Given the description of an element on the screen output the (x, y) to click on. 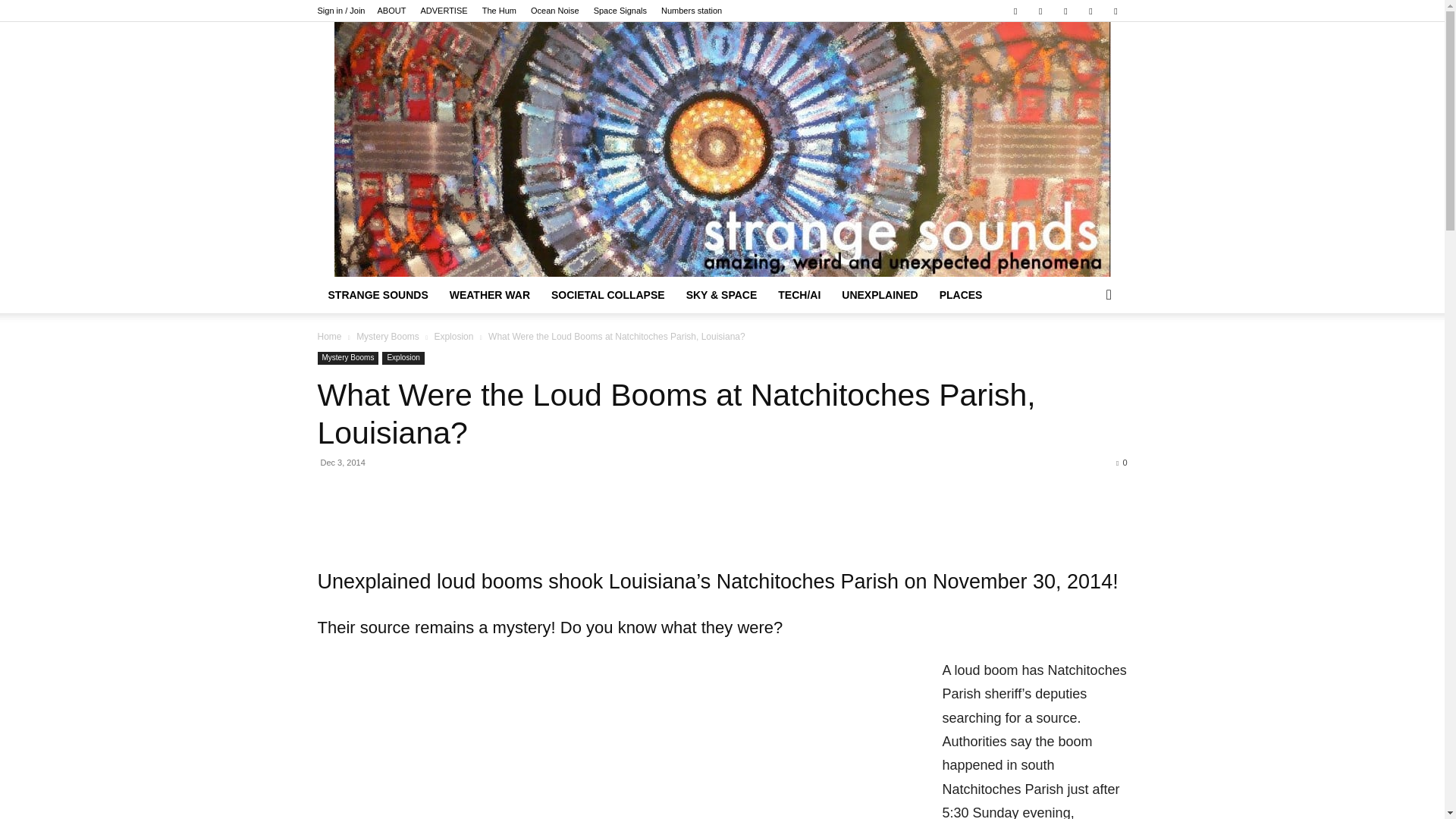
Space Signals (620, 10)
ABOUT (391, 10)
The Hum (498, 10)
Ocean Noise (555, 10)
Unexplained sounds of the deep ocean (555, 10)
The Hum mysterious phenomenon (498, 10)
Facebook (1015, 10)
